Given the description of an element on the screen output the (x, y) to click on. 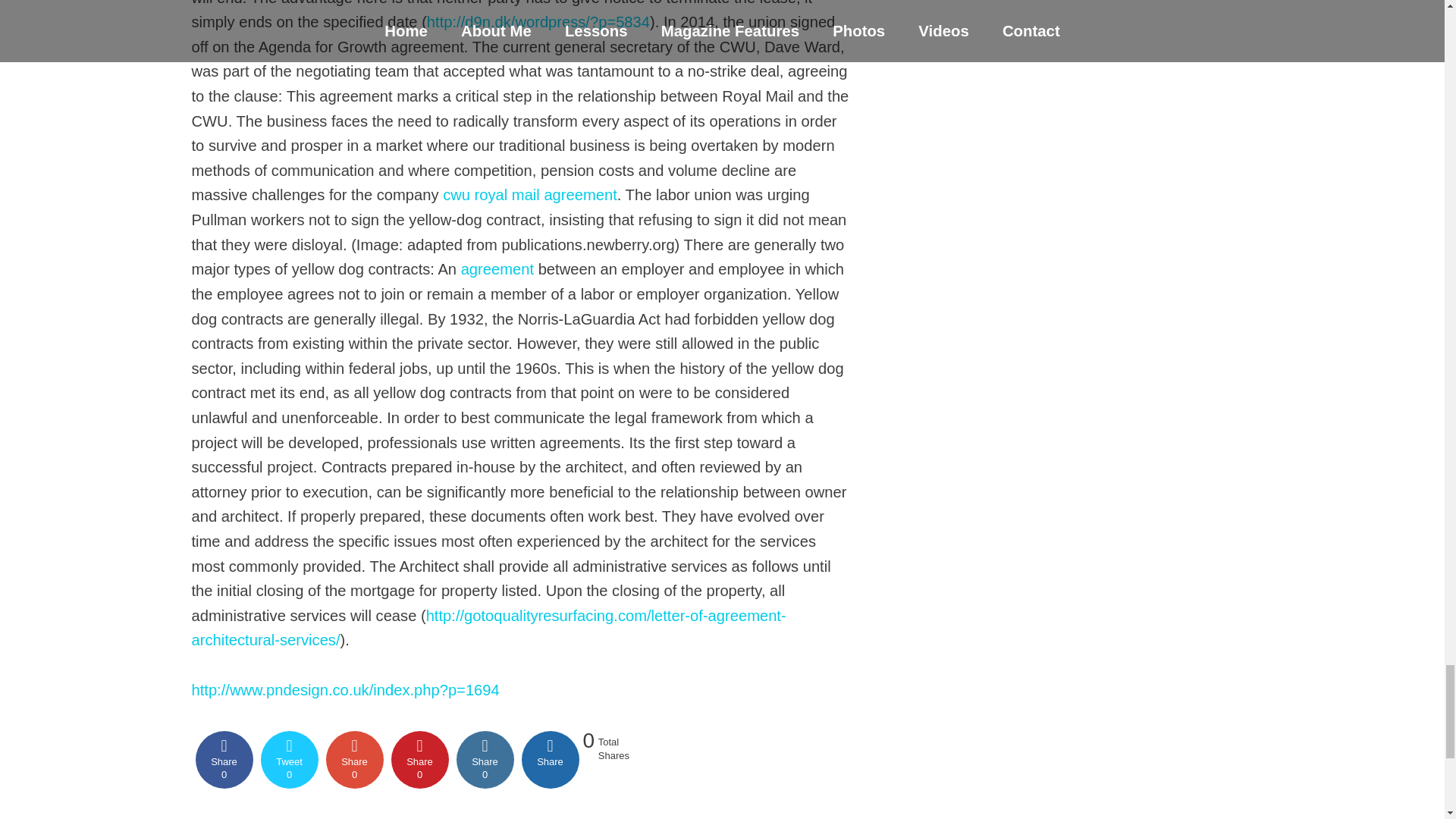
Share on Facebook (224, 759)
cwu royal mail agreement (529, 194)
Share on Pinterest (419, 759)
Share on LinkedIn (485, 759)
Share on Twitter (289, 759)
Share on Google Plus (355, 759)
Share on Digg (550, 759)
